Given the description of an element on the screen output the (x, y) to click on. 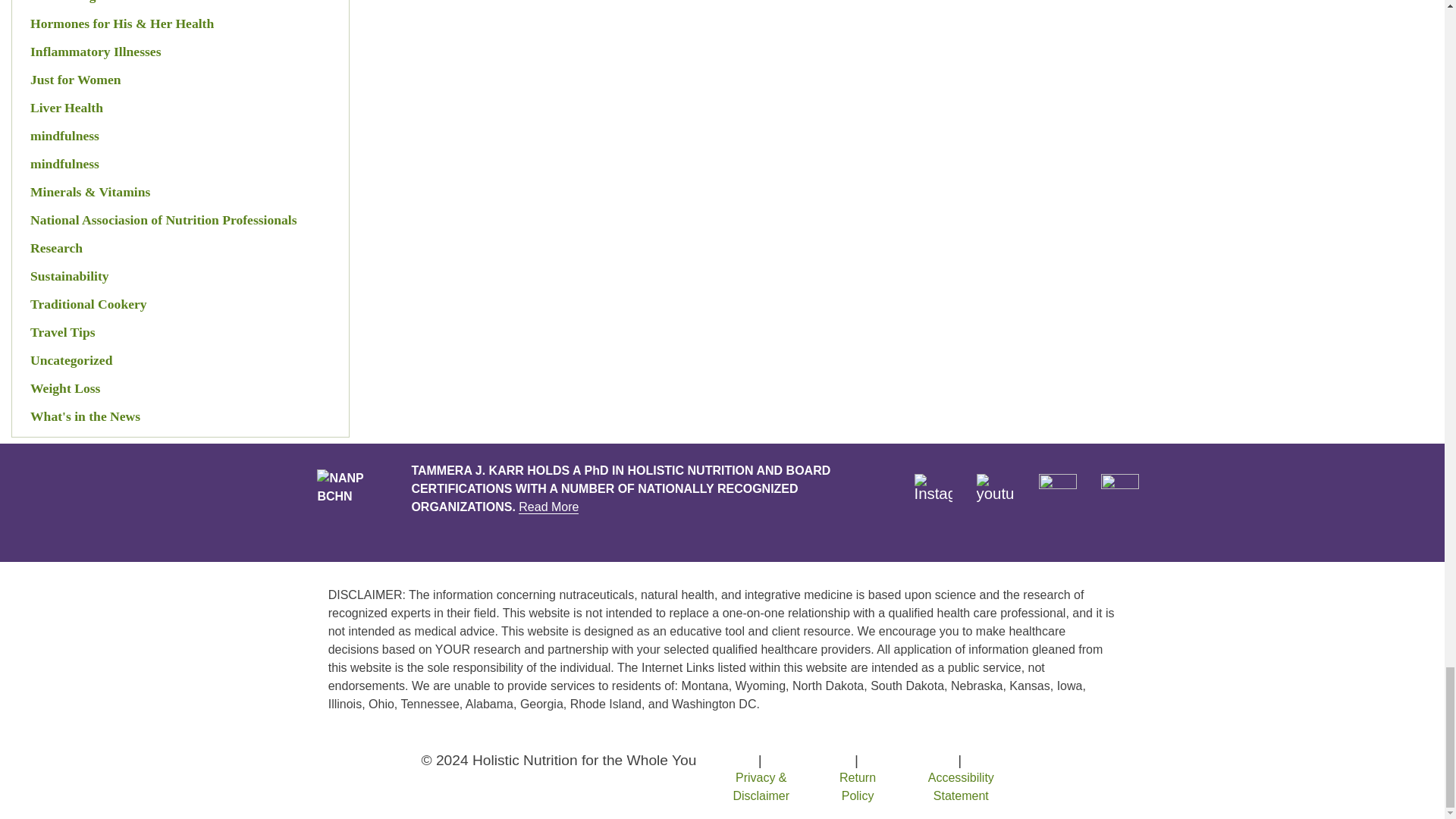
instagram (933, 492)
facebook (1058, 492)
linked in (1119, 492)
youtube (995, 492)
